Given the description of an element on the screen output the (x, y) to click on. 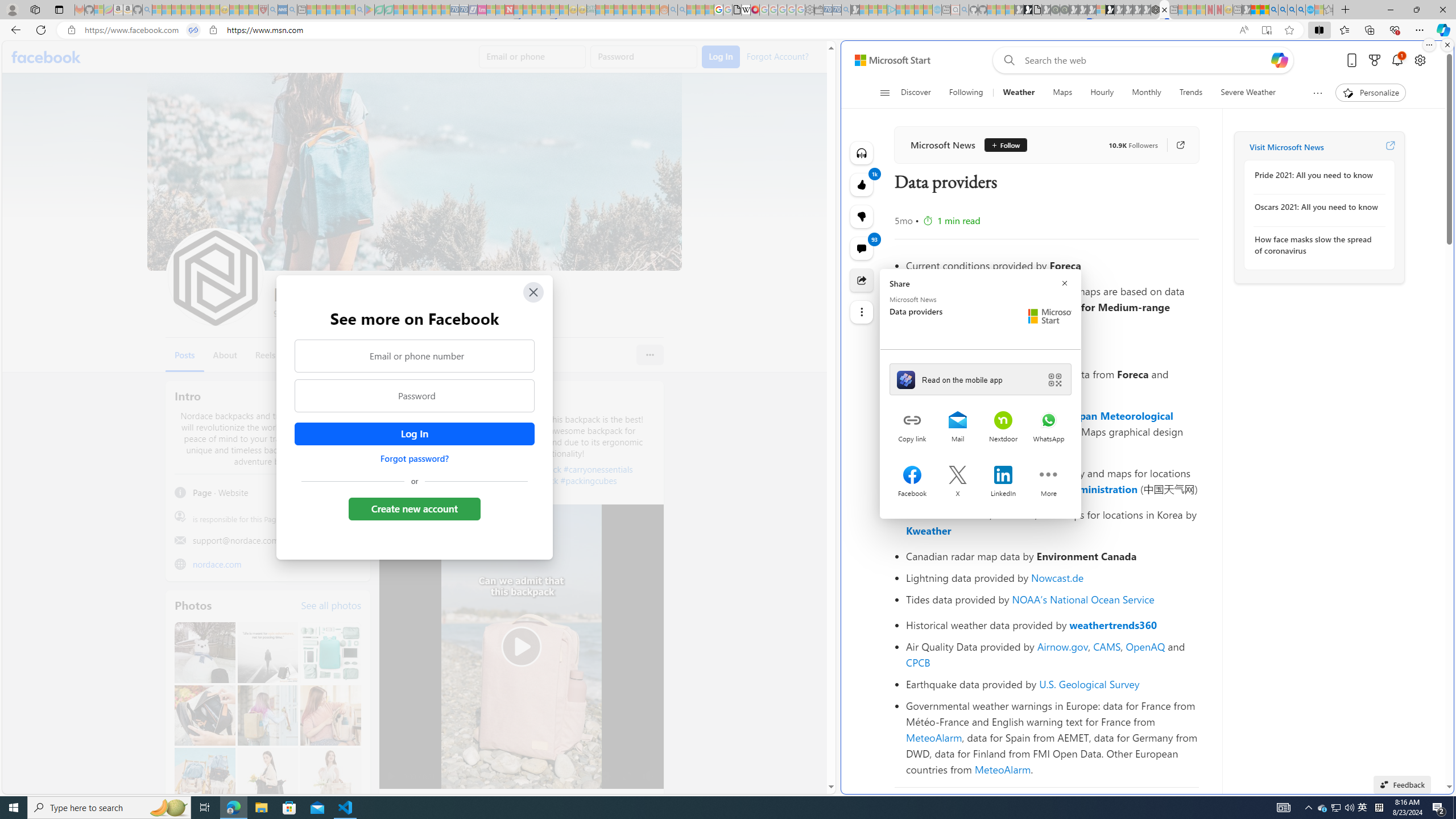
Historical weather data provided by weathertrends360 (1051, 624)
Bing AI - Search (1272, 9)
Share on facebook (911, 476)
Data providers (1163, 9)
Oscars 2021: All you need to know (1316, 206)
